Given the description of an element on the screen output the (x, y) to click on. 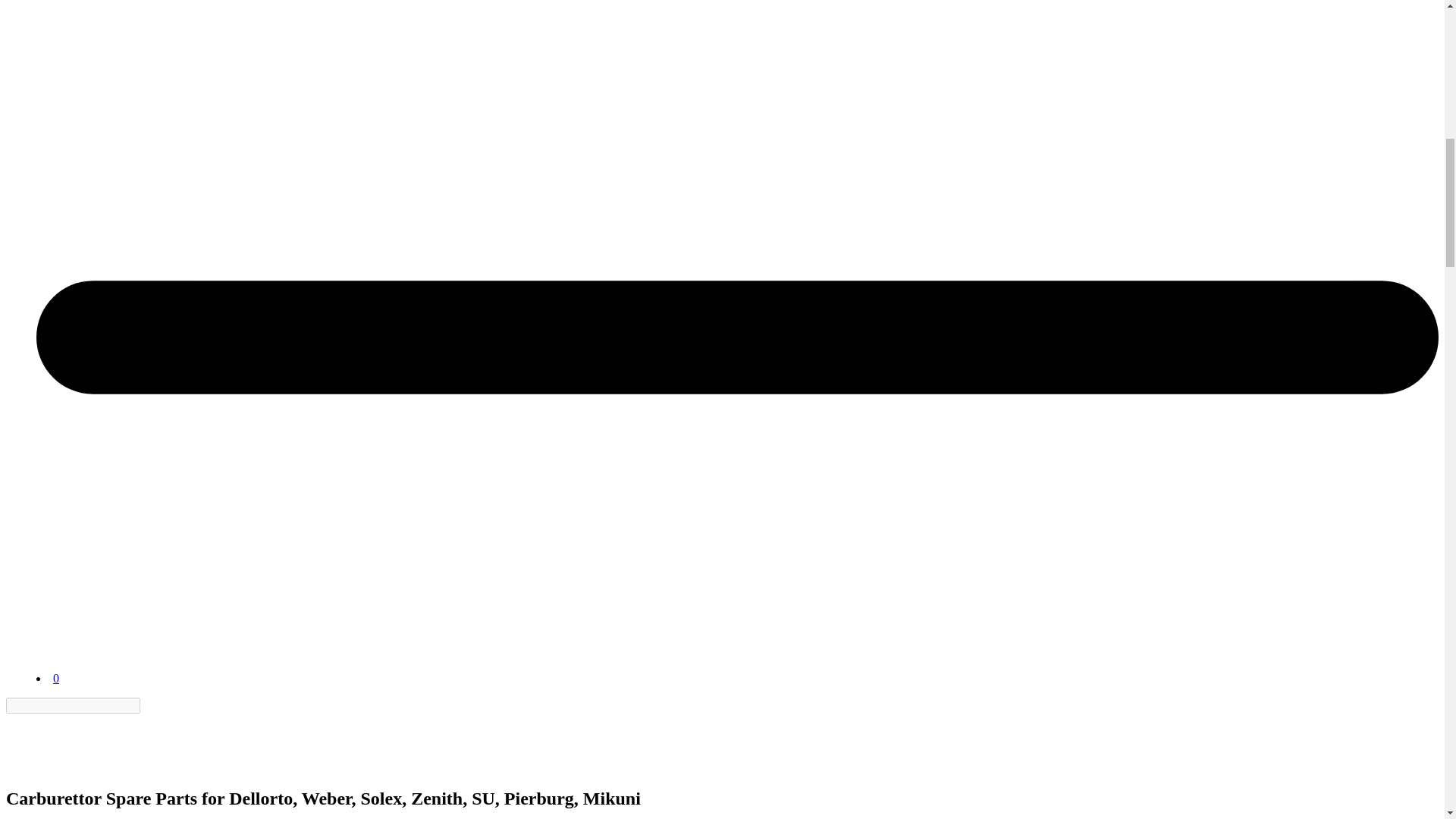
Dellorto Shop Carburettor Shop Ricambi Carburatori (43, 766)
Dellorto Shop Carburettor Shop Ricambi Carburatori (74, 640)
Dellorto Shop Carburettor Shop Ricambi Carburatori (74, 664)
Dellorto Shop Carburettor Shop Ricambi Carburatori (43, 741)
Find (148, 705)
